Given the description of an element on the screen output the (x, y) to click on. 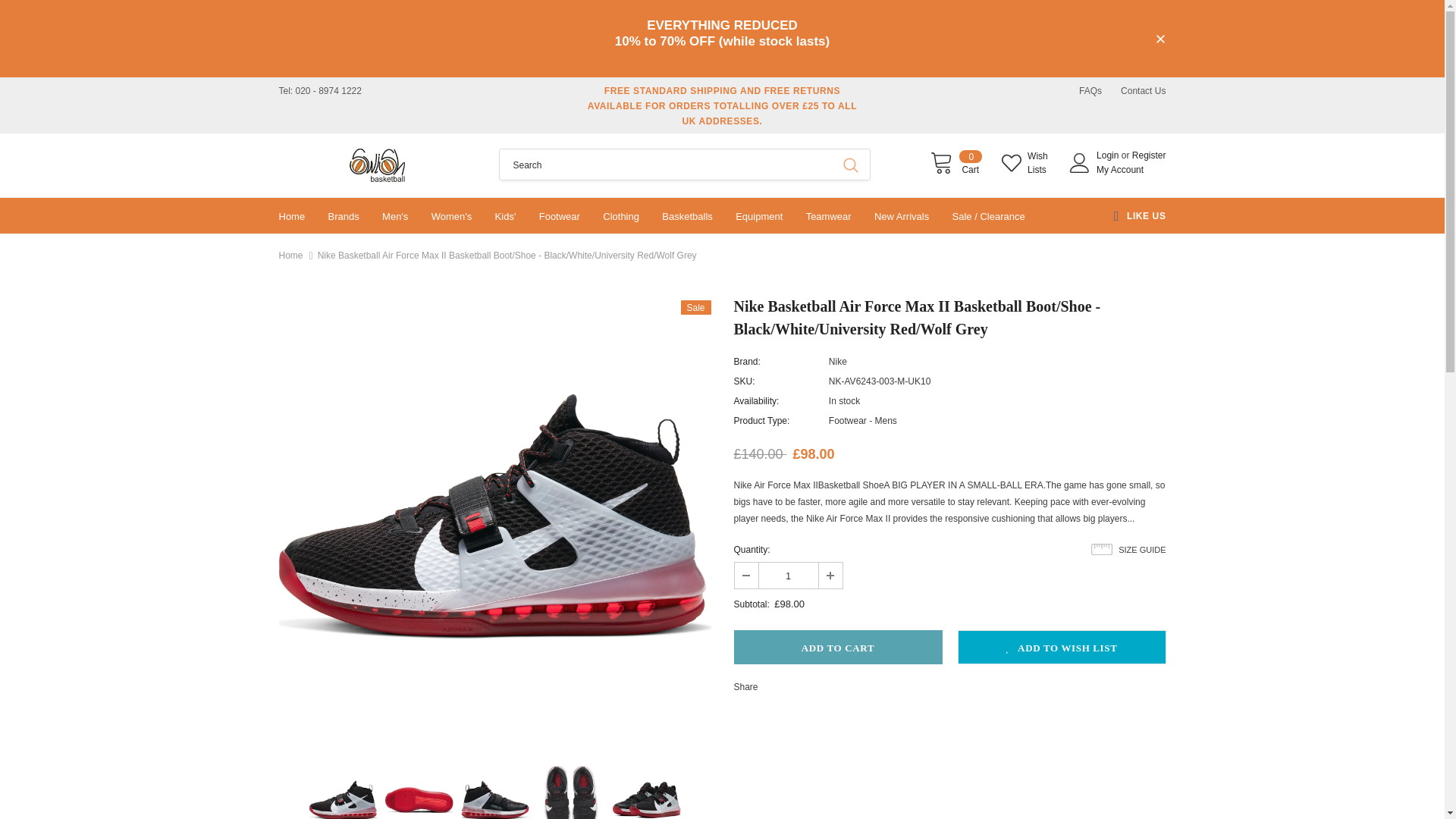
Contact Us (1143, 90)
Brands (344, 215)
Logo (377, 164)
Wish Lists (1027, 162)
Add to Cart (955, 162)
close (837, 646)
FAQs (1160, 38)
1 (1090, 90)
My Account (787, 575)
